Given the description of an element on the screen output the (x, y) to click on. 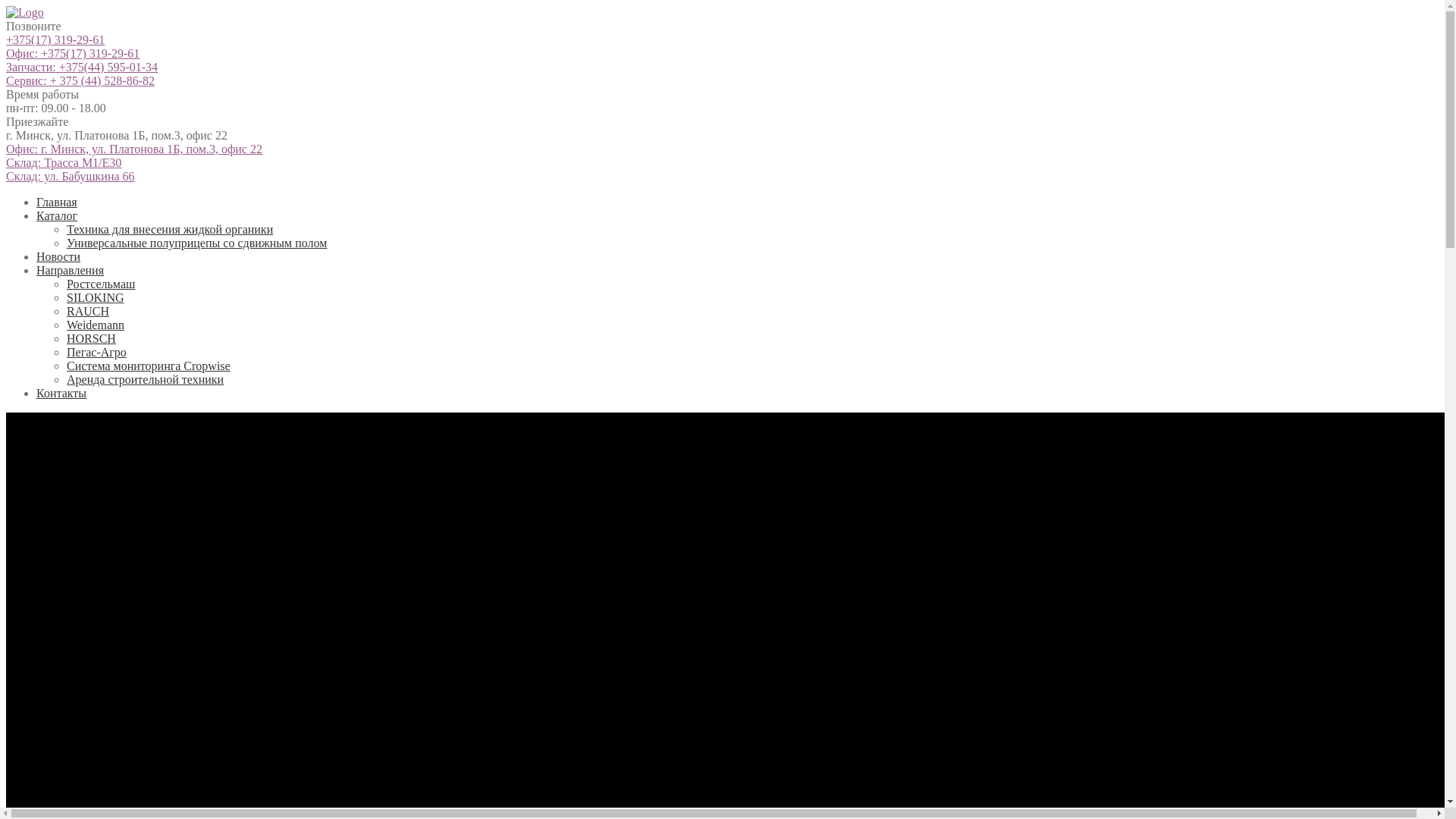
SILOKING Element type: text (95, 297)
HORSCH Element type: text (91, 338)
Weidemann Element type: text (95, 324)
+375(17) 319-29-61 Element type: text (55, 39)
RAUCH Element type: text (87, 310)
